Given the description of an element on the screen output the (x, y) to click on. 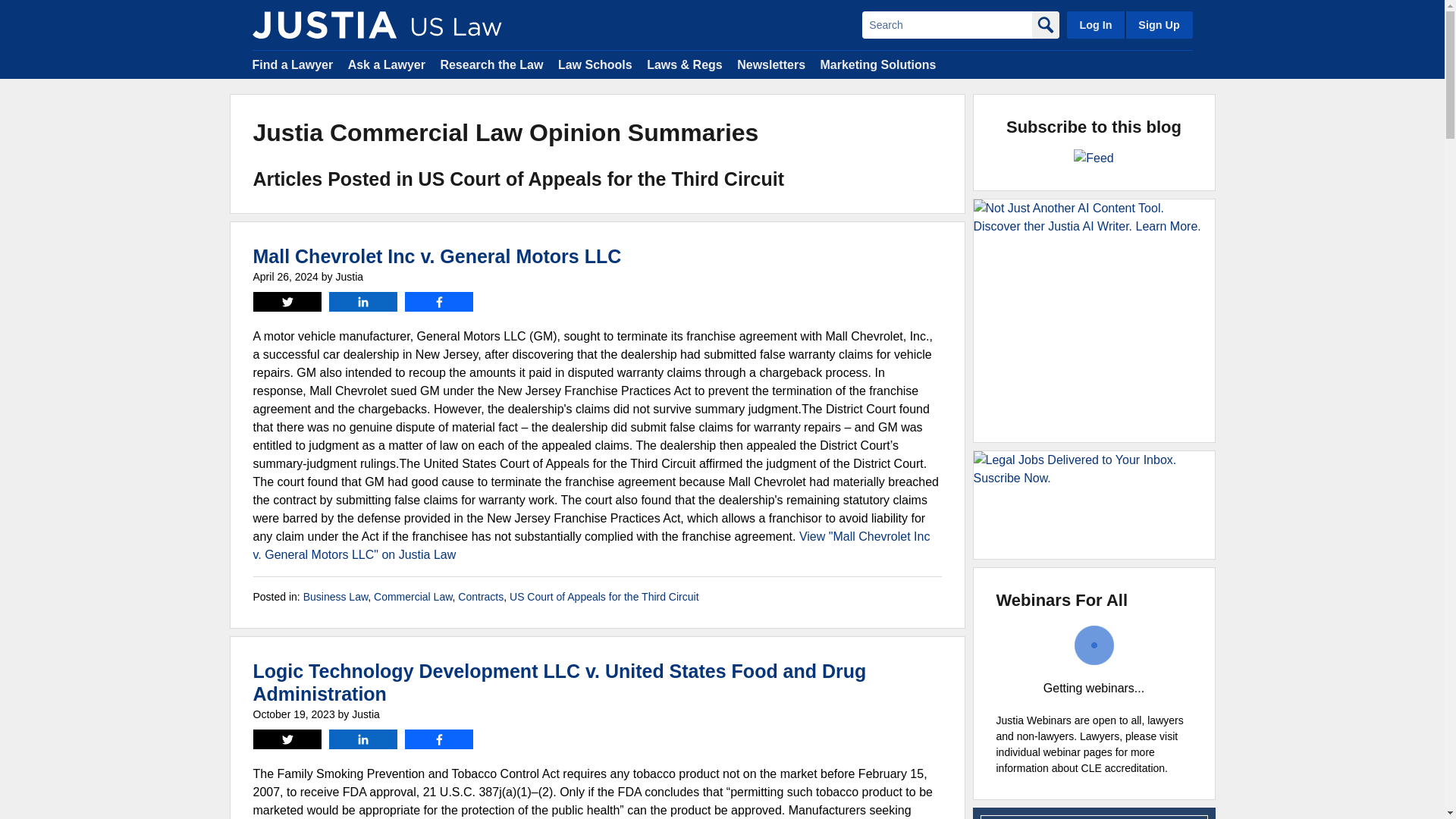
View all posts in US Court of Appeals for the Third Circuit (603, 596)
Permalink to Mall Chevrolet Inc v. General Motors LLC (437, 255)
Business Law (335, 596)
Find a Lawyer (292, 64)
Contracts (480, 596)
Search (945, 24)
Commercial Law (412, 596)
View all posts in Contracts (480, 596)
Newsletters (770, 64)
Sign Up (1158, 24)
